Given the description of an element on the screen output the (x, y) to click on. 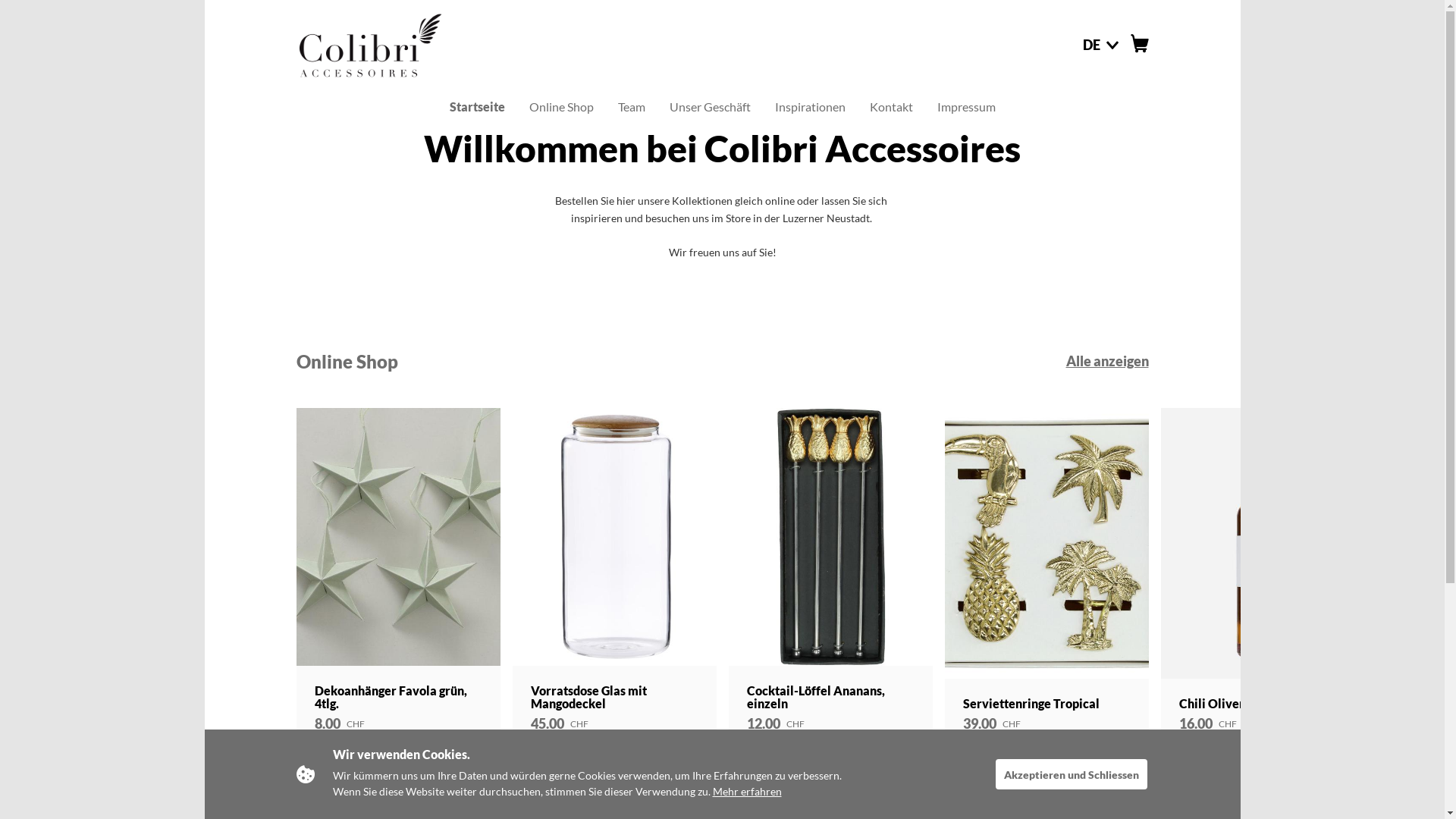
Akzeptieren und Schliessen Element type: text (1071, 774)
Kontakt Element type: text (890, 106)
Mehr erfahren Element type: text (746, 791)
Alle anzeigen Element type: text (1107, 361)
Serviettenringe Tropical Element type: text (1031, 703)
Vorratsdose Glas mit Mangodeckel Element type: text (588, 697)
Vorratsdose Glas mit Mangodeckel Element type: text (614, 536)
Inspirationen Element type: text (810, 106)
Impressum Element type: text (966, 109)
cart Element type: text (1138, 47)
Serviettenringe Tropical Element type: text (1046, 542)
Team Element type: text (630, 106)
Online Shop Element type: text (561, 106)
Startseite Element type: text (476, 106)
logo Element type: text (368, 43)
Impressum Element type: text (966, 106)
